Given the description of an element on the screen output the (x, y) to click on. 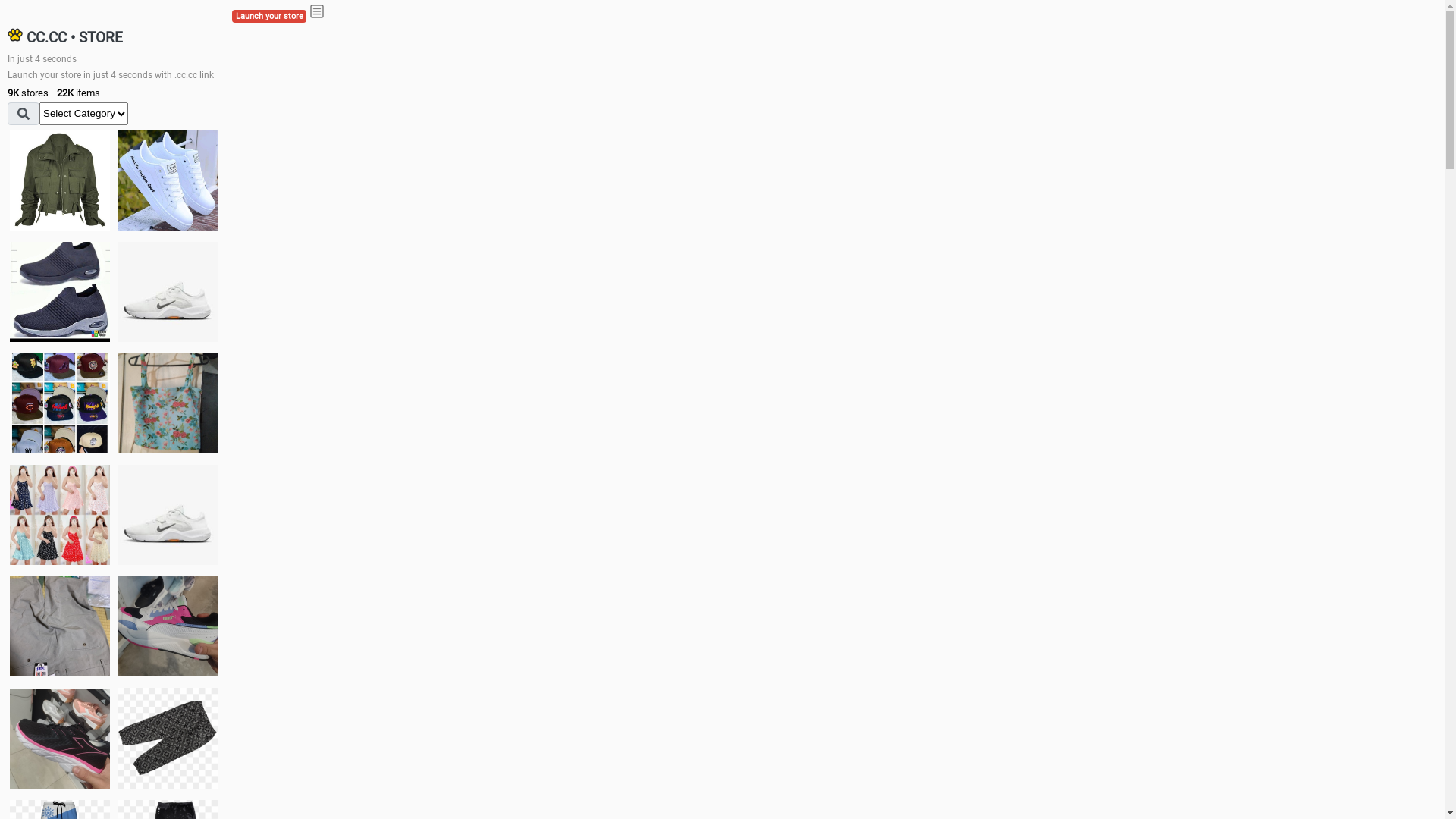
jacket Element type: hover (59, 180)
Short pant Element type: hover (167, 737)
Ukay cloth Element type: hover (167, 403)
Launch your store Element type: text (269, 15)
Zapatillas Element type: hover (59, 738)
Things we need Element type: hover (59, 403)
Shoes Element type: hover (167, 514)
shoes for boys Element type: hover (59, 291)
Dress/square nect top Element type: hover (59, 514)
white shoes Element type: hover (167, 180)
Shoes for boys Element type: hover (167, 291)
Zapatillas pumas Element type: hover (167, 626)
